Given the description of an element on the screen output the (x, y) to click on. 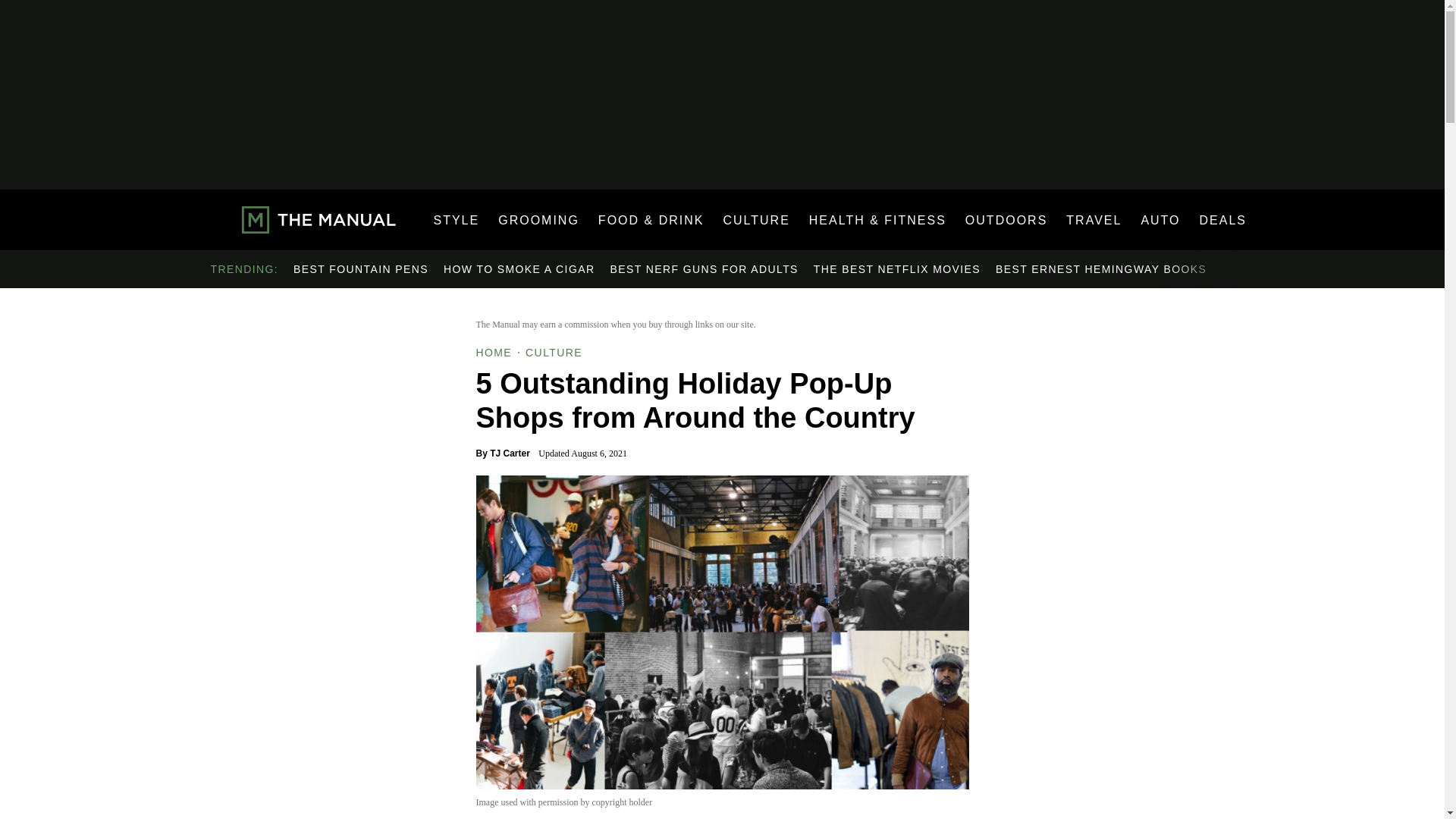
CULTURE (755, 219)
TRAVEL (1093, 219)
OUTDOORS (1005, 219)
GROOMING (538, 219)
